Given the description of an element on the screen output the (x, y) to click on. 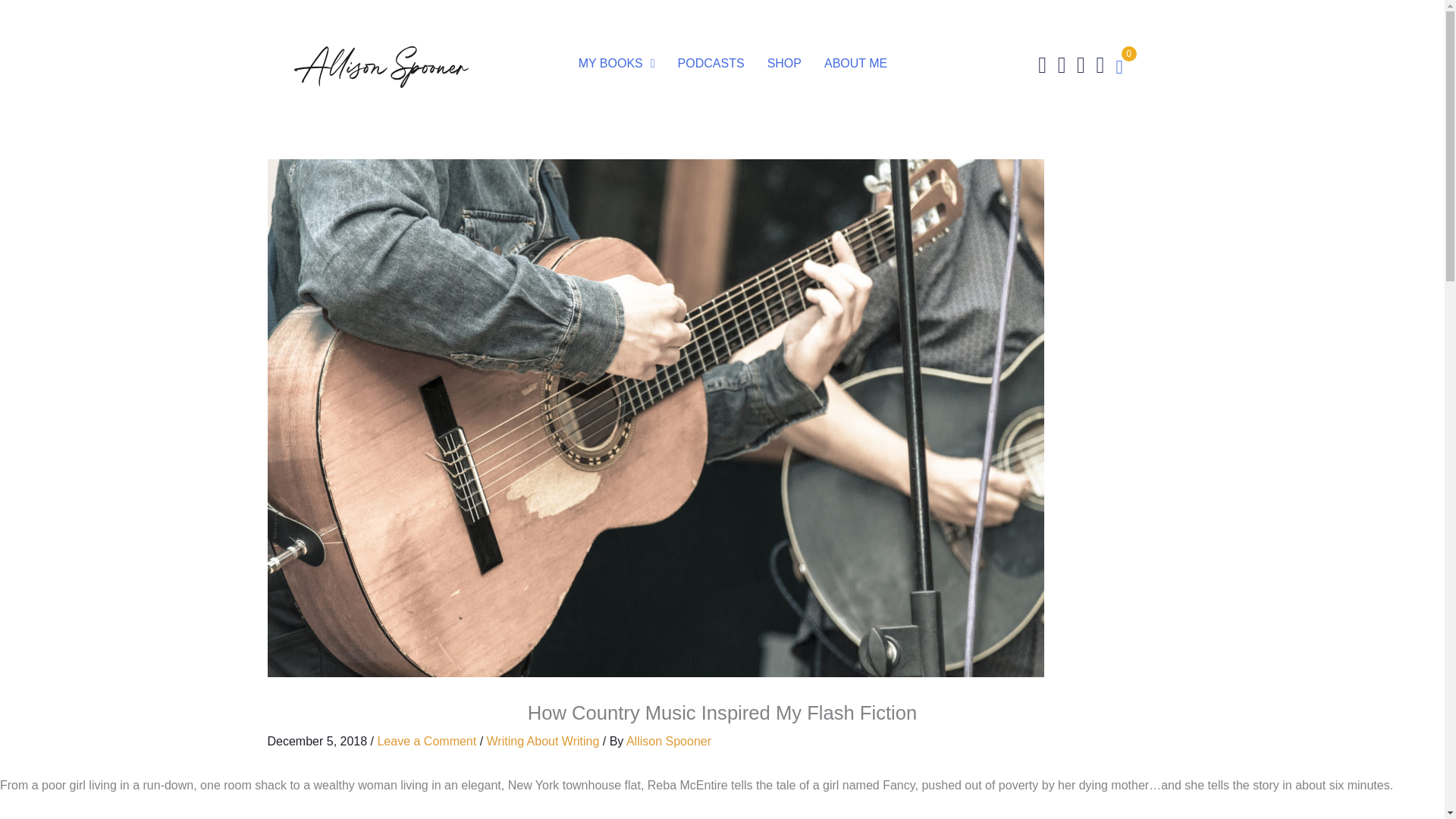
Writing About Writing (542, 739)
View all posts by Allison Spooner (668, 739)
aliison-logo (381, 66)
ABOUT ME (855, 62)
Allison Spooner (668, 739)
MY BOOKS (616, 62)
Leave a Comment (426, 739)
SHOP (784, 62)
PODCASTS (710, 62)
